Given the description of an element on the screen output the (x, y) to click on. 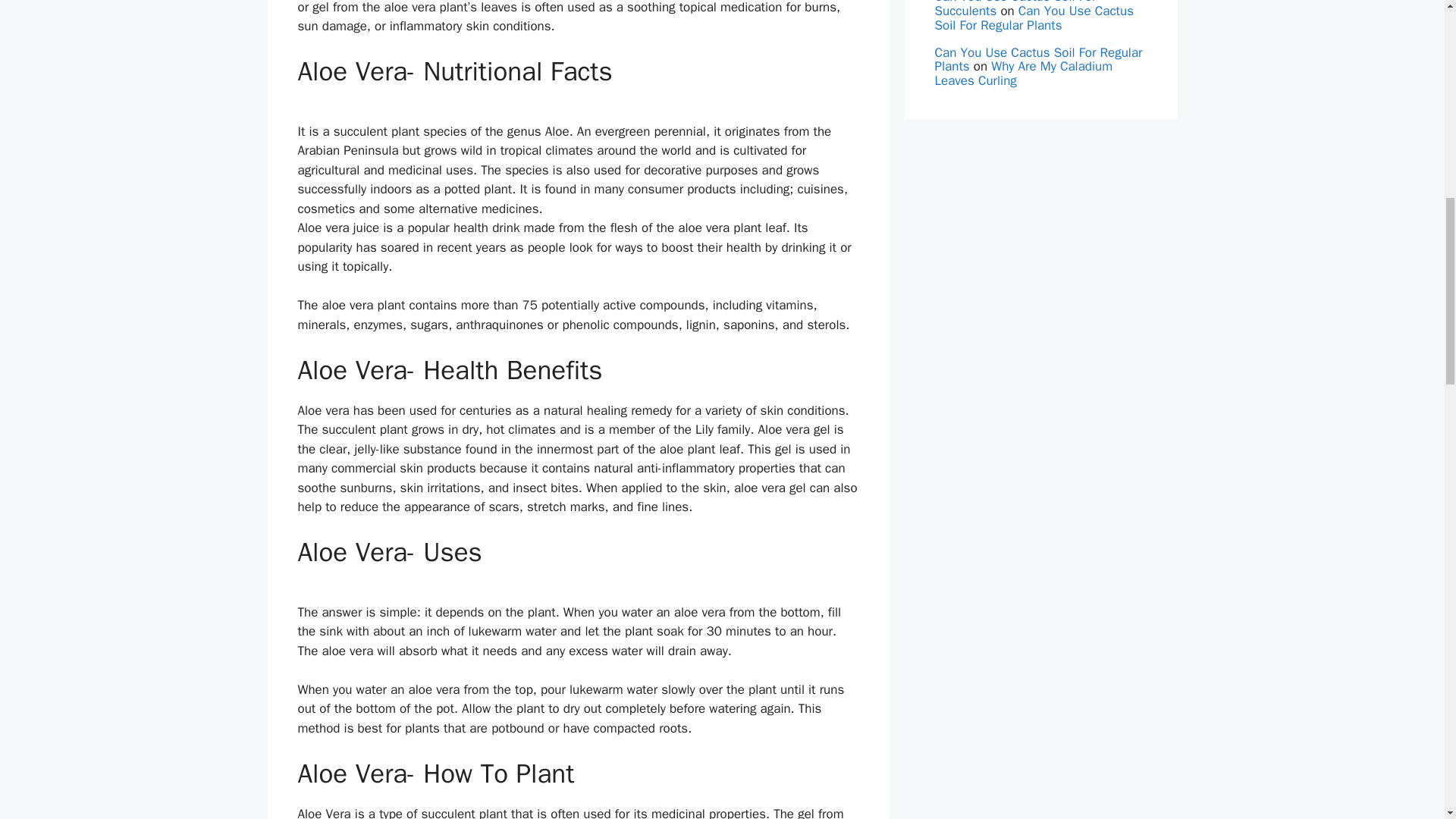
Can You Use Cactus Soil For Regular Plants (1037, 60)
Can You Use Cactus Soil For Regular Plants (1033, 18)
Why Are My Caladium Leaves Curling (1023, 73)
Can You Use Cactus Soil For Succulents (1015, 9)
